Given the description of an element on the screen output the (x, y) to click on. 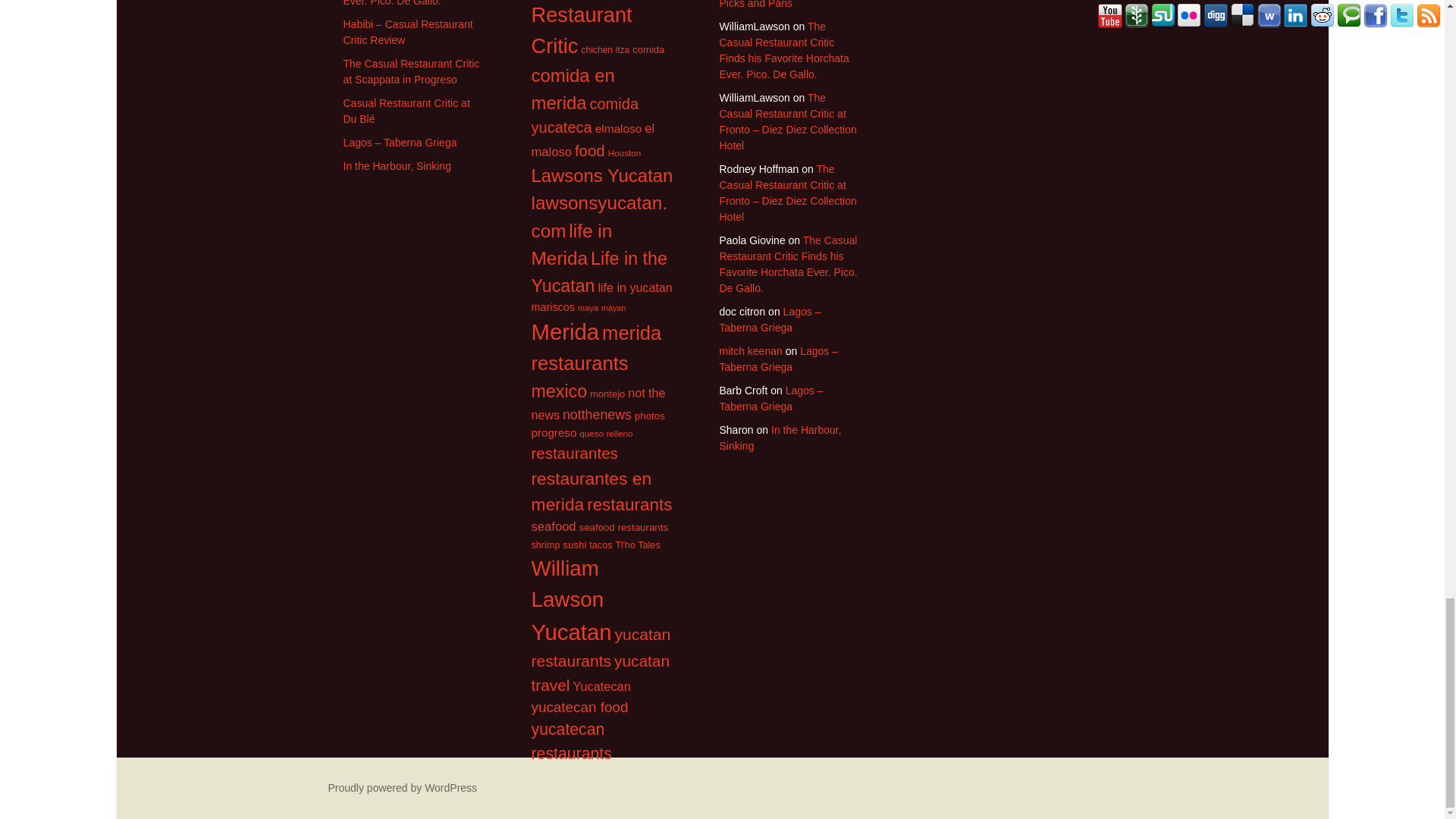
Semantic Personal Publishing Platform (402, 787)
